Given the description of an element on the screen output the (x, y) to click on. 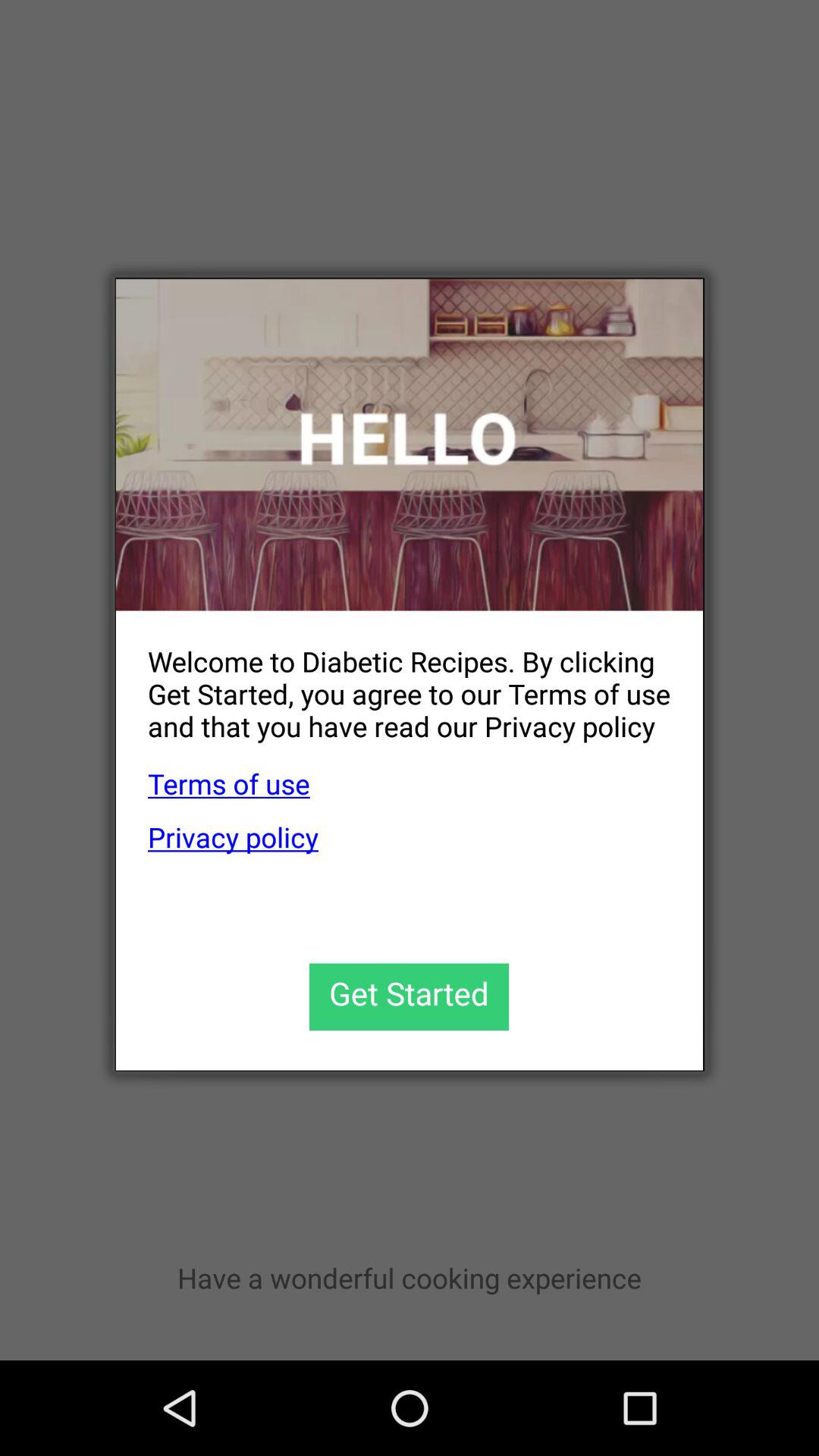
flip until welcome to diabetic icon (393, 681)
